Given the description of an element on the screen output the (x, y) to click on. 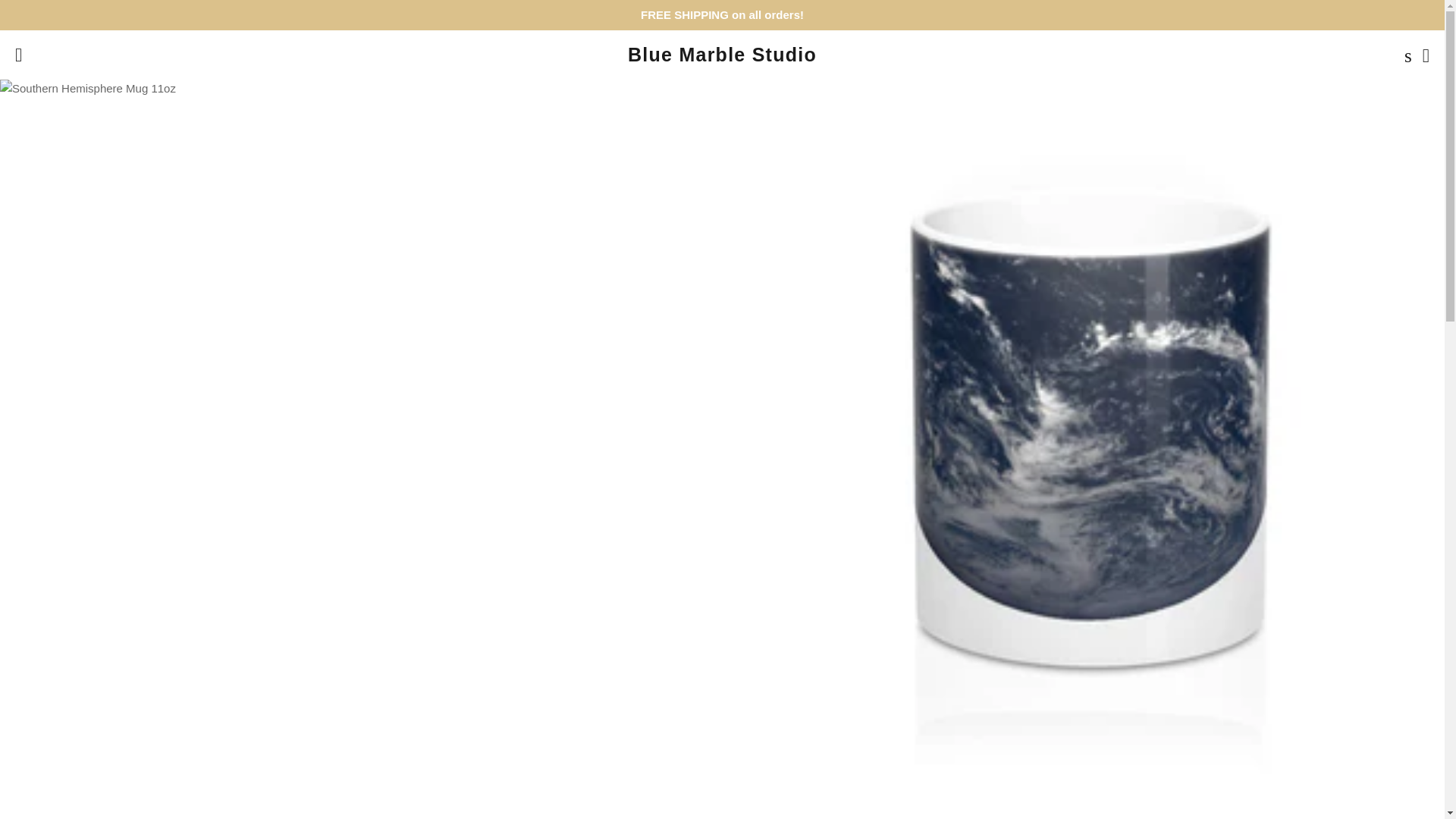
Cart (1426, 53)
Search (1404, 53)
Menu (18, 54)
Blue Marble Studio (722, 54)
